Given the description of an element on the screen output the (x, y) to click on. 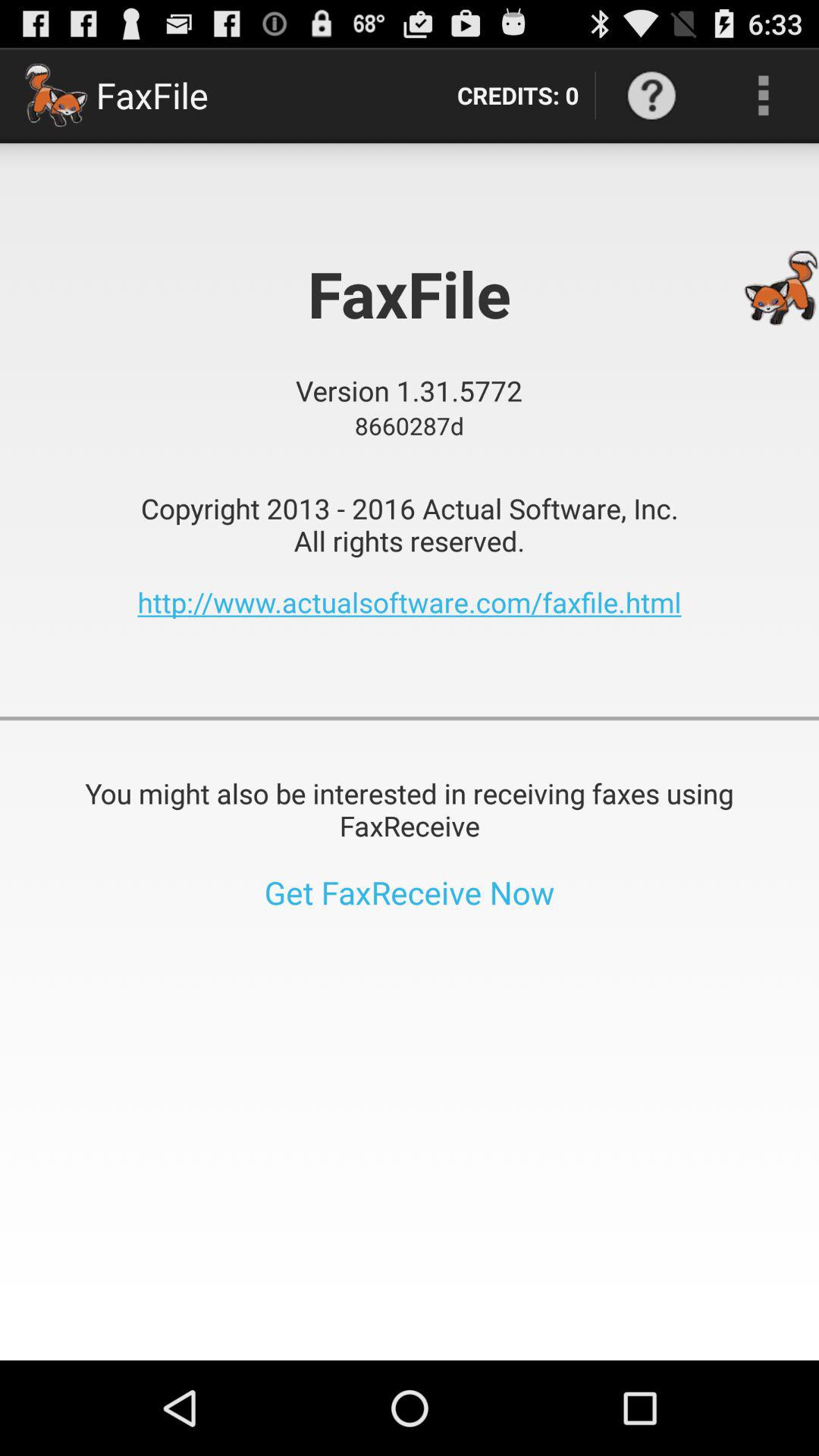
press the item to the right of credits: 0 (651, 95)
